Given the description of an element on the screen output the (x, y) to click on. 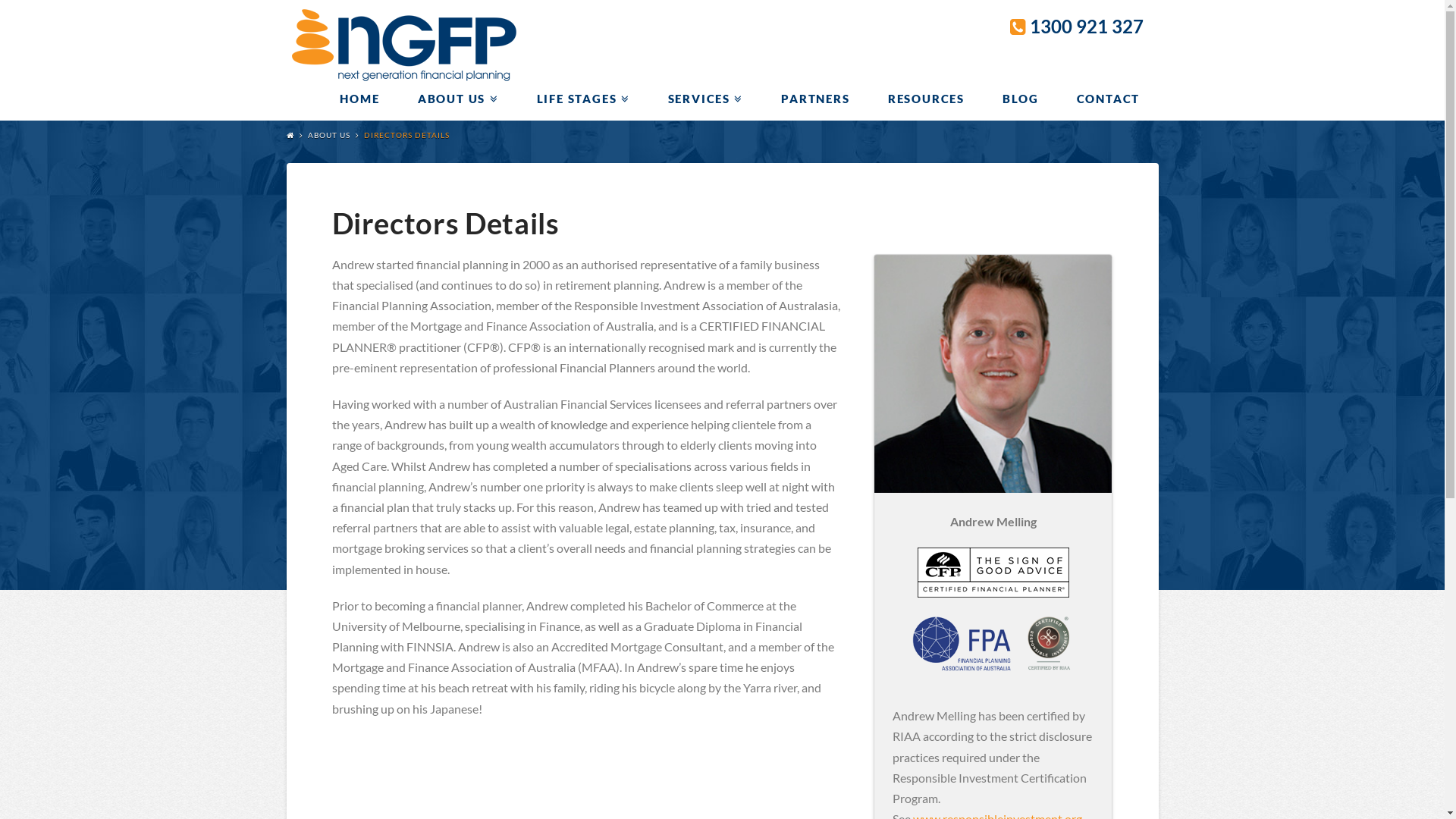
LIFE STAGES Element type: text (582, 98)
RESOURCES Element type: text (925, 98)
PARTNERS Element type: text (814, 98)
BLOG Element type: text (1019, 98)
CONTACT Element type: text (1107, 98)
SERVICES Element type: text (705, 98)
ABOUT US Element type: text (328, 134)
Financial Services Melbourne Element type: hover (404, 42)
HOME Element type: text (358, 98)
ABOUT US Element type: text (457, 98)
